Given the description of an element on the screen output the (x, y) to click on. 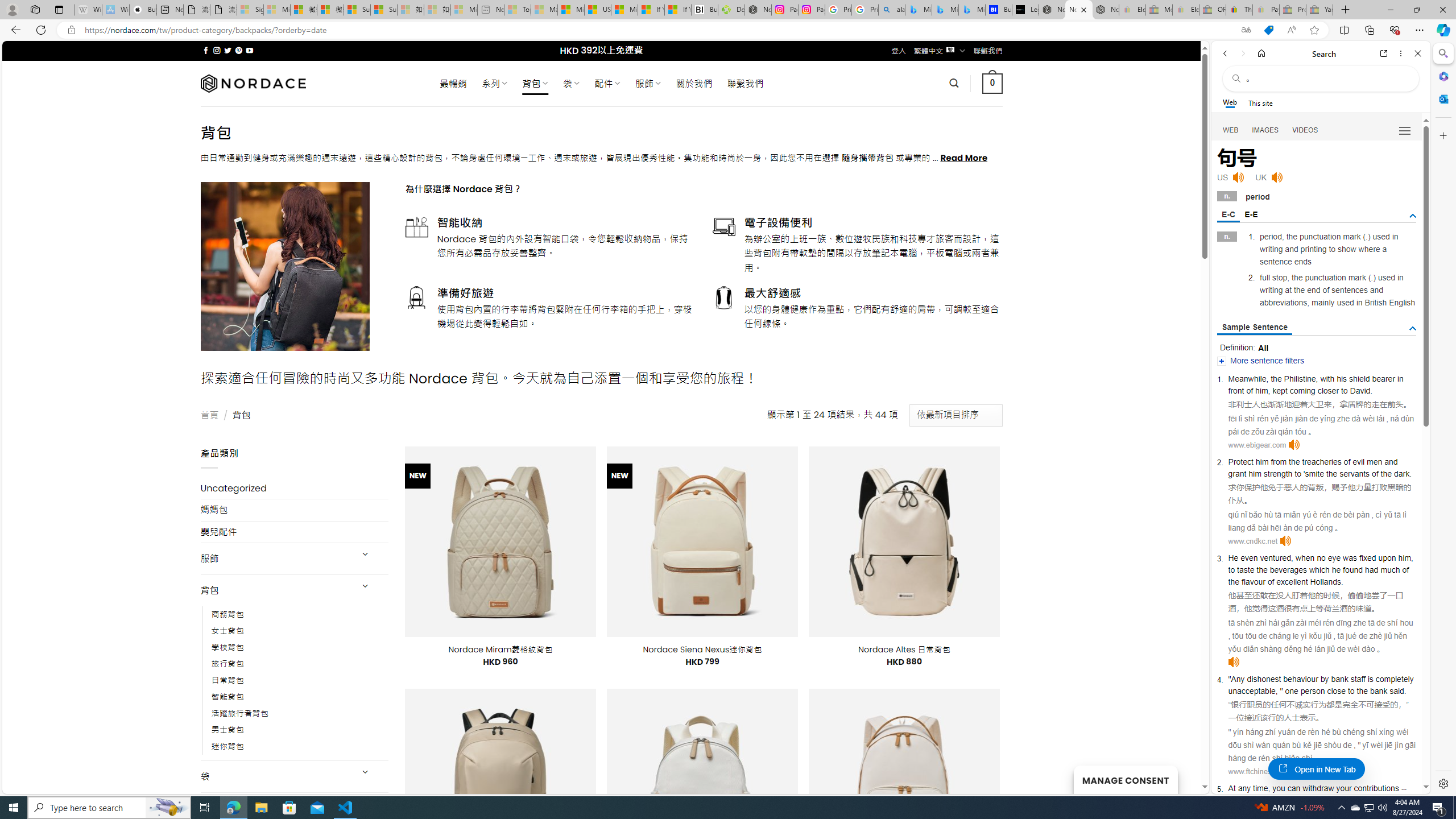
with (1327, 378)
when (1304, 557)
strength (1277, 473)
